Given the description of an element on the screen output the (x, y) to click on. 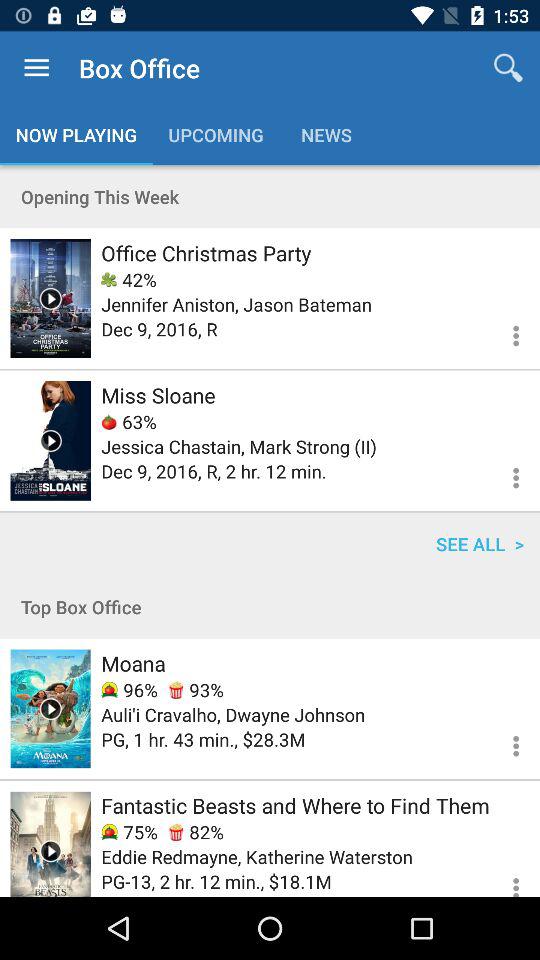
click the fantastic beasts and item (295, 805)
